Given the description of an element on the screen output the (x, y) to click on. 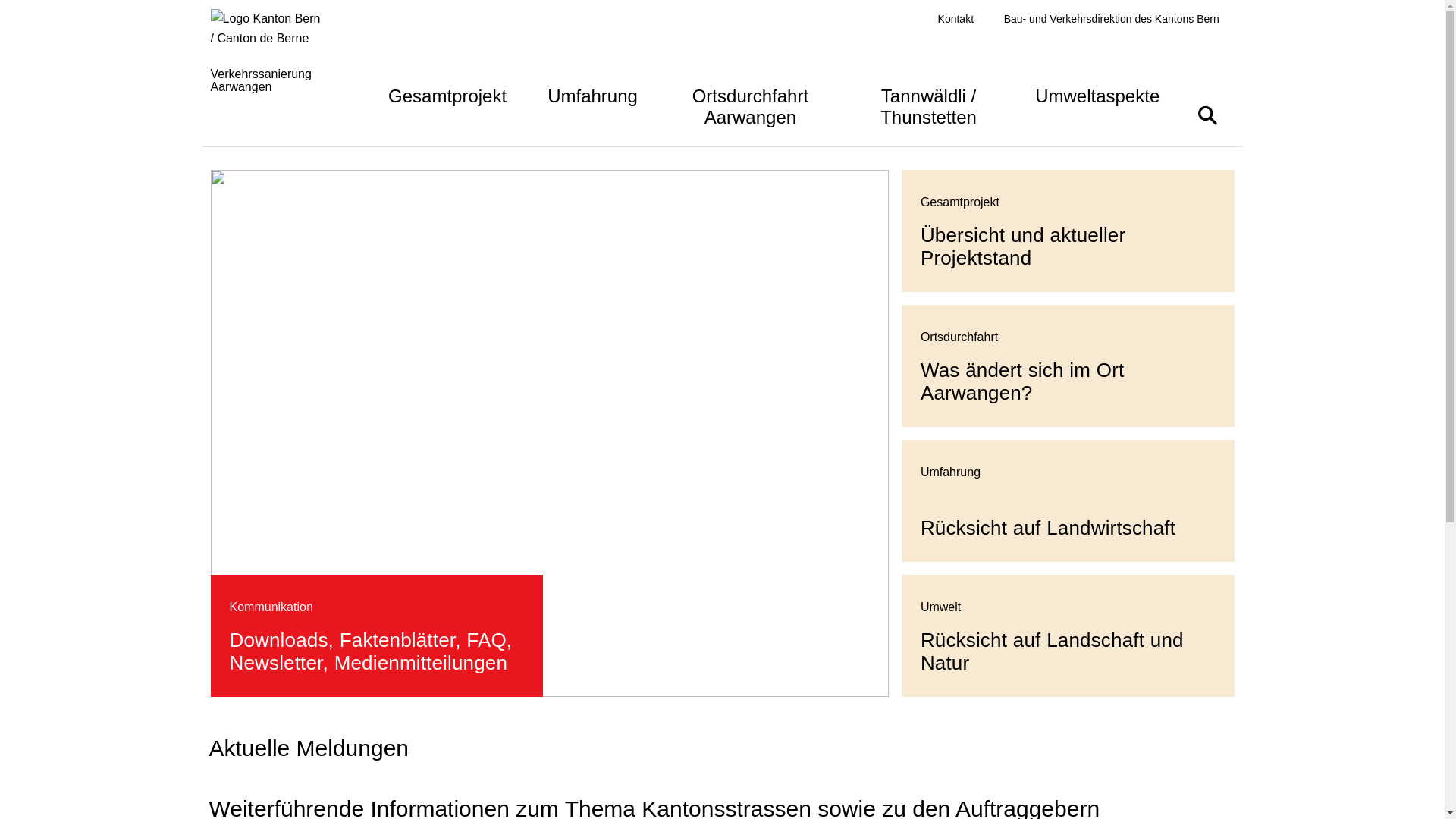
Suche ein- oder ausblenden Element type: text (1206, 115)
Ortsdurchfahrt Aarwangen Element type: text (750, 104)
Bau- und Verkehrsdirektion des Kantons Bern Element type: text (1111, 19)
Gesamtprojekt Element type: text (447, 93)
Umfahrung Element type: text (592, 93)
Verkehrssanierung Aarwangen Element type: text (281, 68)
Umweltaspekte Element type: text (1096, 93)
Kontakt Element type: text (955, 19)
